Given the description of an element on the screen output the (x, y) to click on. 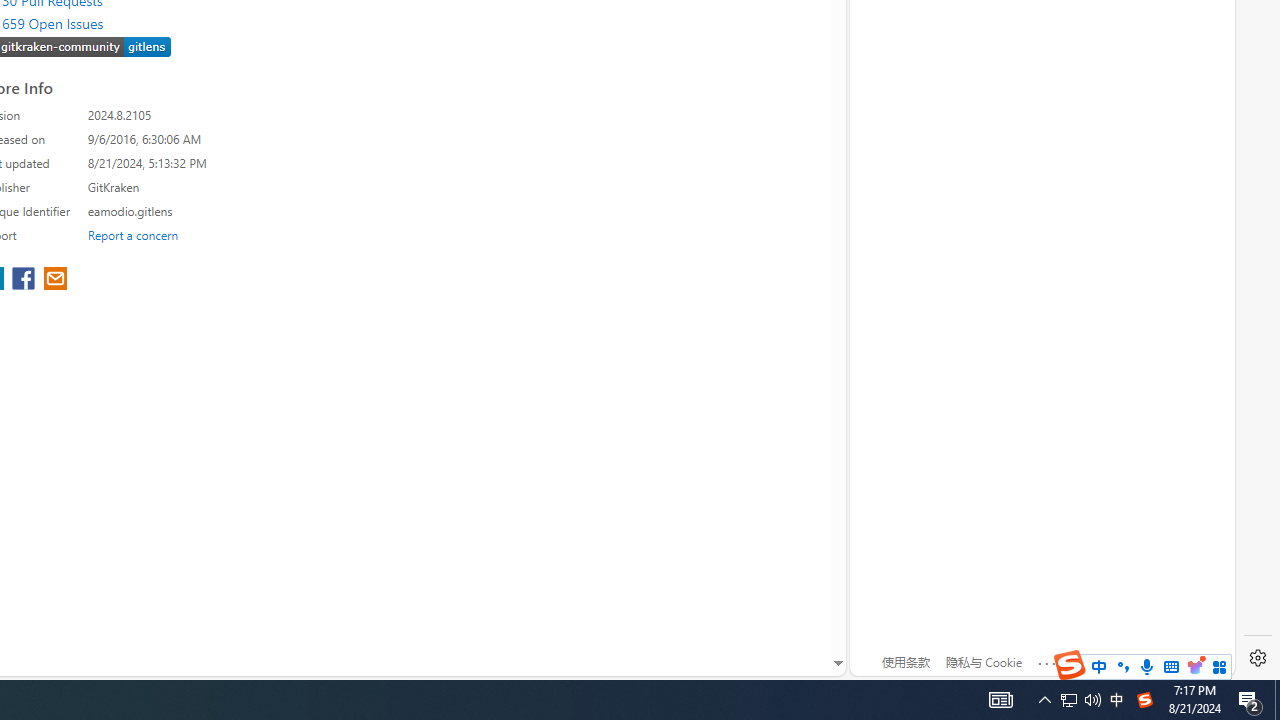
share extension on facebook (26, 280)
share extension on email (54, 280)
Report a concern (133, 234)
